Given the description of an element on the screen output the (x, y) to click on. 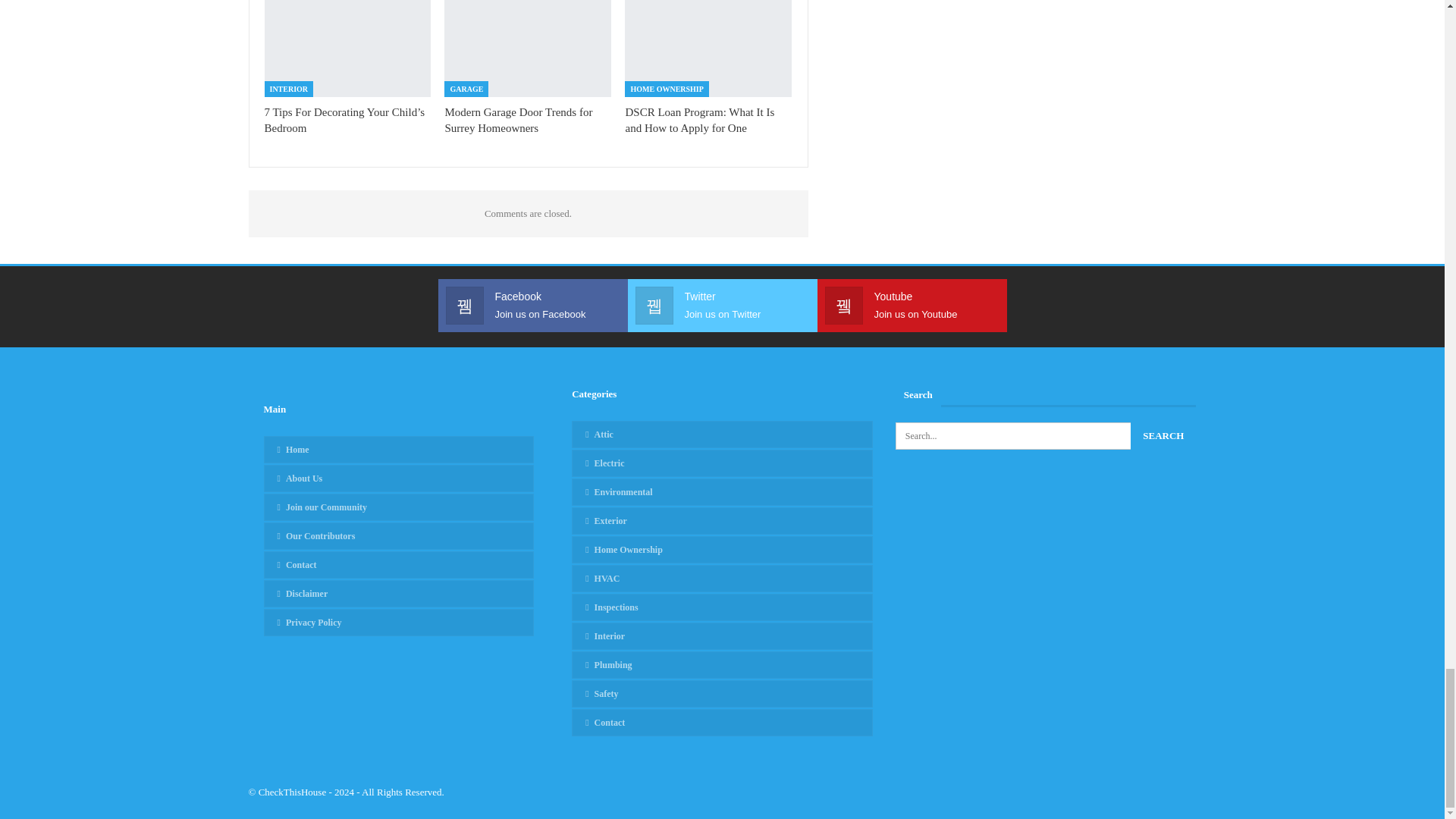
Modern Garage Door Trends for Surrey Homeowners (527, 48)
Search (1163, 435)
Search (1163, 435)
DSCR Loan Program: What It Is and How to Apply for One (708, 48)
Modern Garage Door Trends for Surrey Homeowners (518, 120)
